Given the description of an element on the screen output the (x, y) to click on. 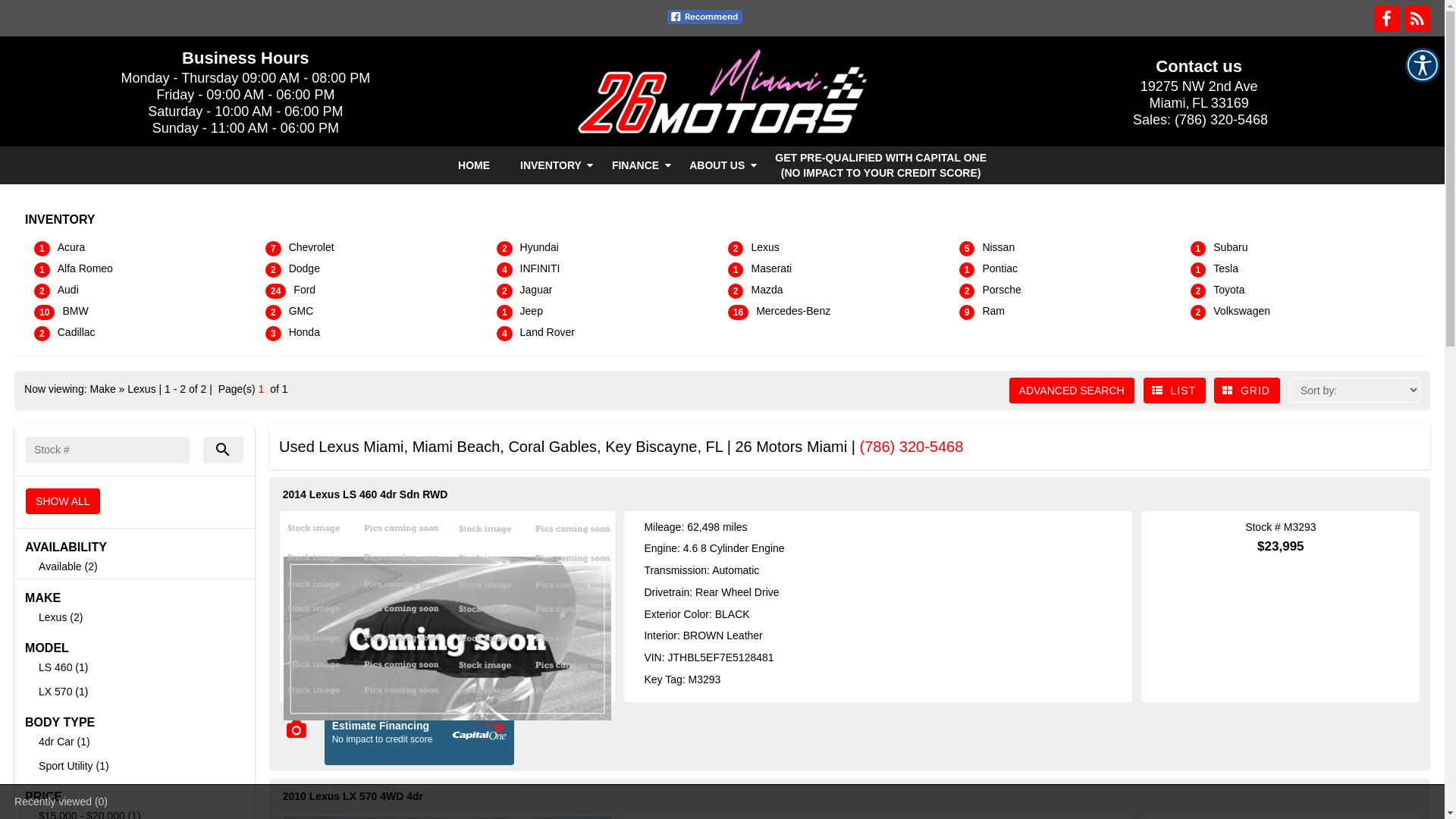
2010 Lexus LX 570 4WD 4dr Element type: text (352, 796)
2014 Lexus LS 460 4dr Sdn RWD Element type: text (365, 494)
(786) 320-5468 Element type: text (911, 446)
LIST Element type: text (1174, 390)
ADVANCED SEARCH Element type: text (1071, 390)
1 Element type: text (261, 388)
LX 570 (1) Element type: text (62, 691)
Sport Utility (1) Element type: text (73, 765)
HOME Element type: text (473, 165)
GRID Element type: text (1247, 390)
4dr Car (1) Element type: text (64, 741)
INVENTORY Element type: text (550, 165)
LS 460 (1) Element type: text (62, 667)
Available (2) Element type: text (67, 566)
FINANCE Element type: text (635, 165)
26 Motors Miami, Miami, FL Element type: hover (722, 91)
fb recommend Element type: hover (704, 16)
SHOW ALL Element type: text (62, 501)
Sales: (786) 320-5468 Element type: text (1198, 119)
  Element type: text (447, 602)
ABOUT US Element type: text (716, 165)
Get Pre-qualified powered by Capital One Element type: hover (419, 738)
search Element type: text (223, 449)
Lexus (2) Element type: text (60, 617)
